Given the description of an element on the screen output the (x, y) to click on. 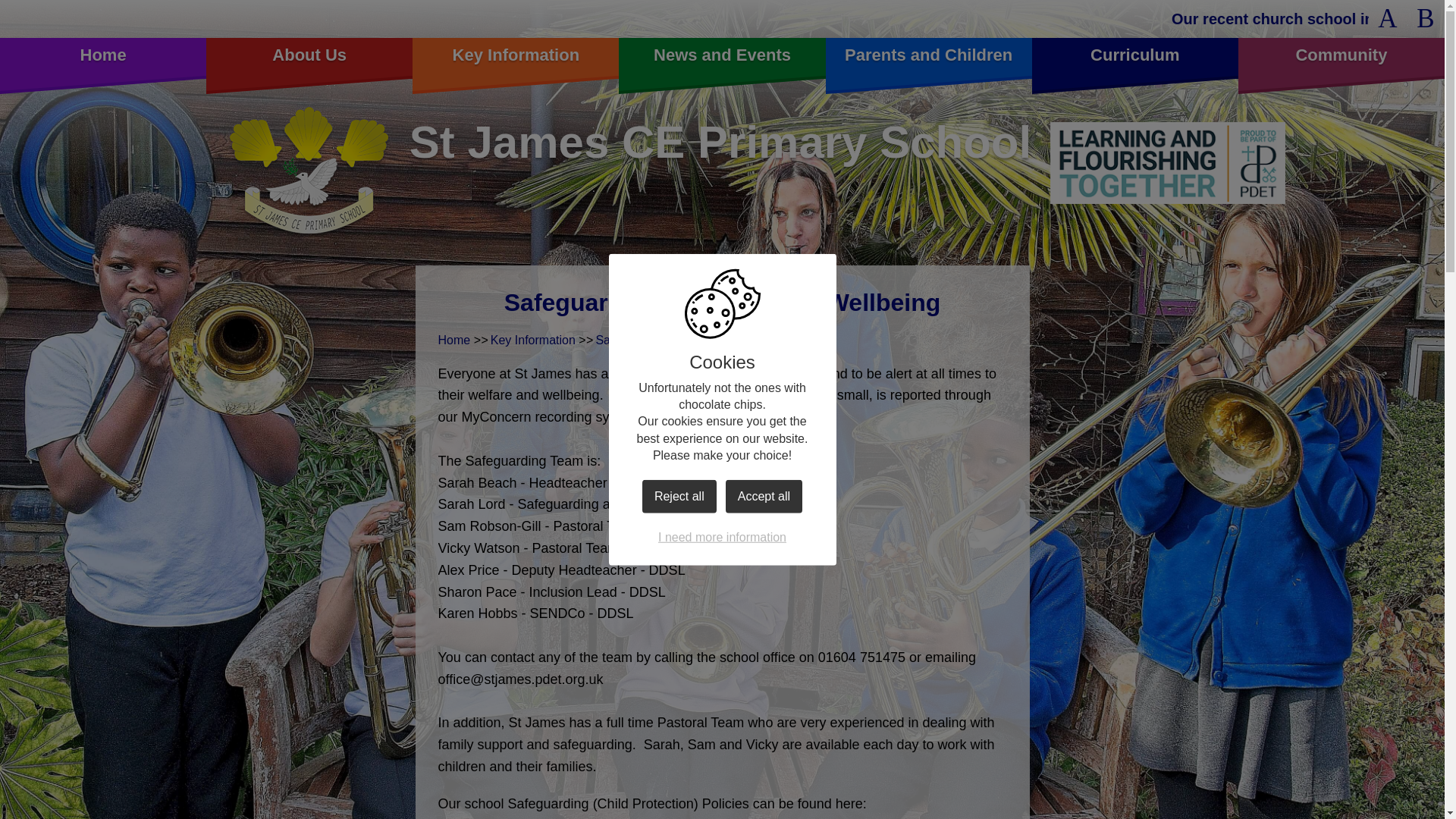
Homepage (308, 172)
Key Information (515, 56)
Peterborough Diocese Education Trust (1167, 162)
News and Events (721, 56)
About Us (1387, 18)
Home (309, 56)
Search (103, 56)
Parents and Children (1387, 18)
Home Page (928, 56)
